Given the description of an element on the screen output the (x, y) to click on. 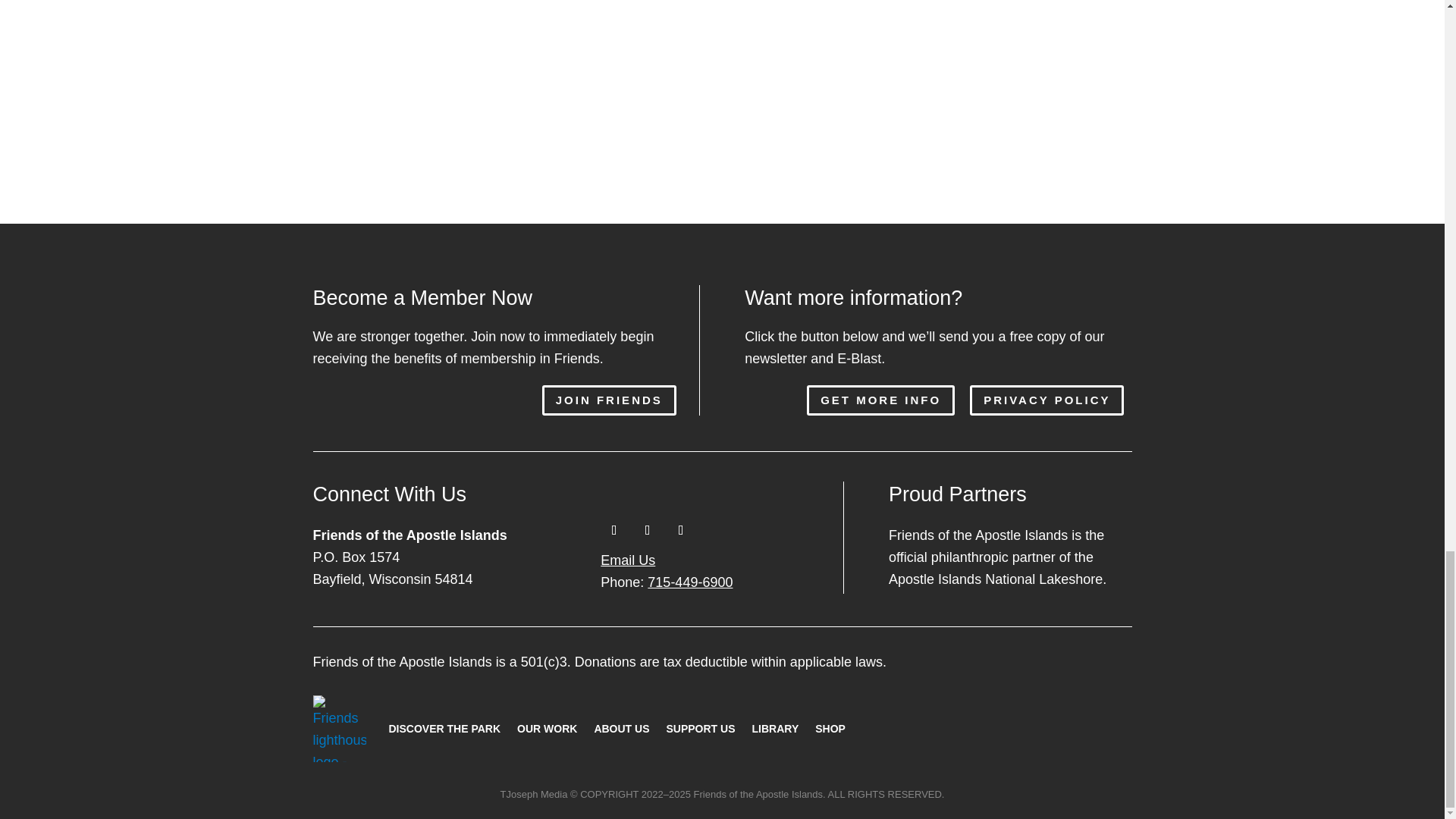
Click to send Friends and email (627, 560)
Click to call us (665, 581)
Follow on Instagram (647, 529)
Follow on Youtube (680, 529)
Follow on Facebook (613, 529)
